Given the description of an element on the screen output the (x, y) to click on. 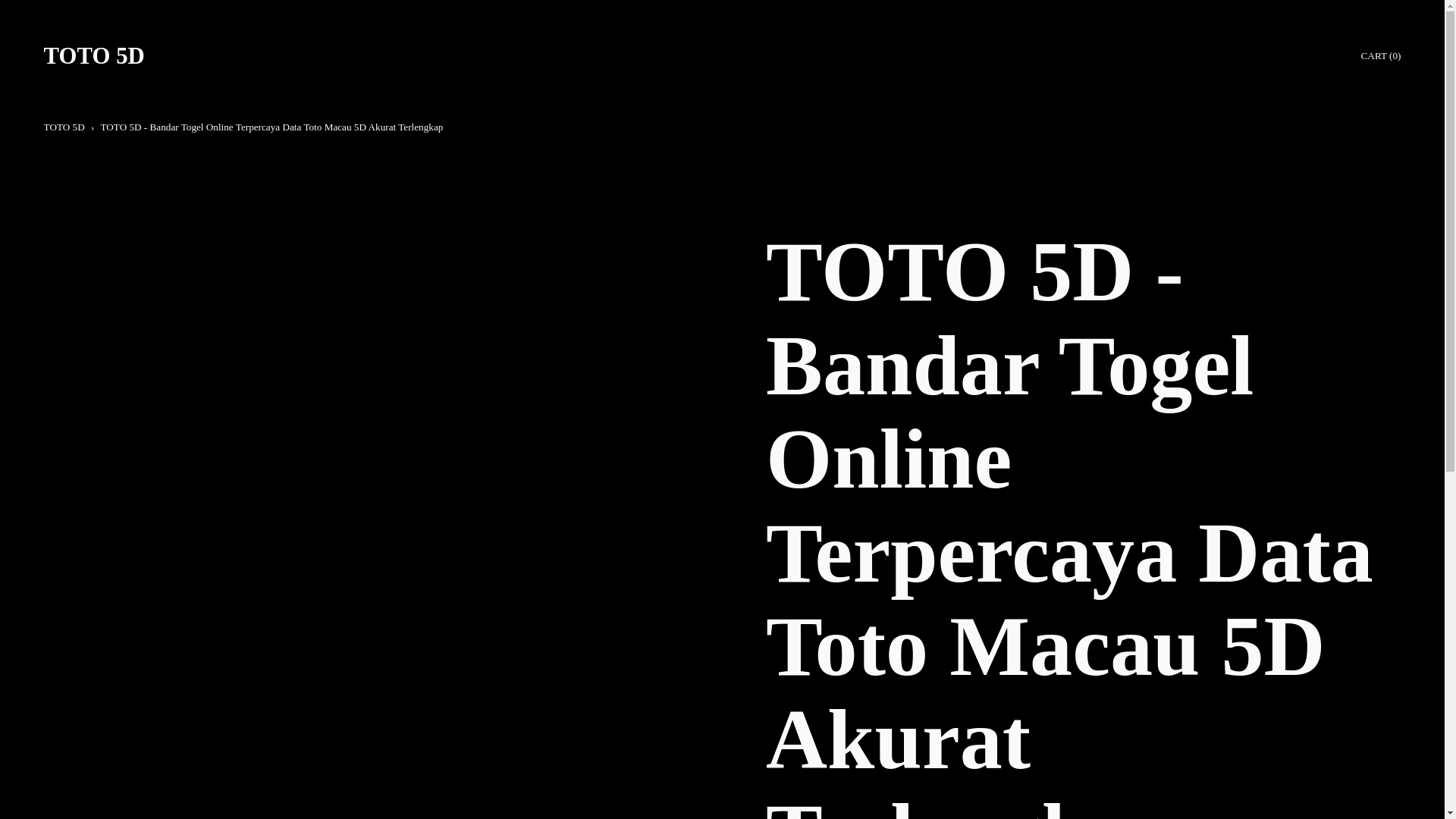
TOTO 5D (63, 126)
TOTO 5D (93, 55)
